Given the description of an element on the screen output the (x, y) to click on. 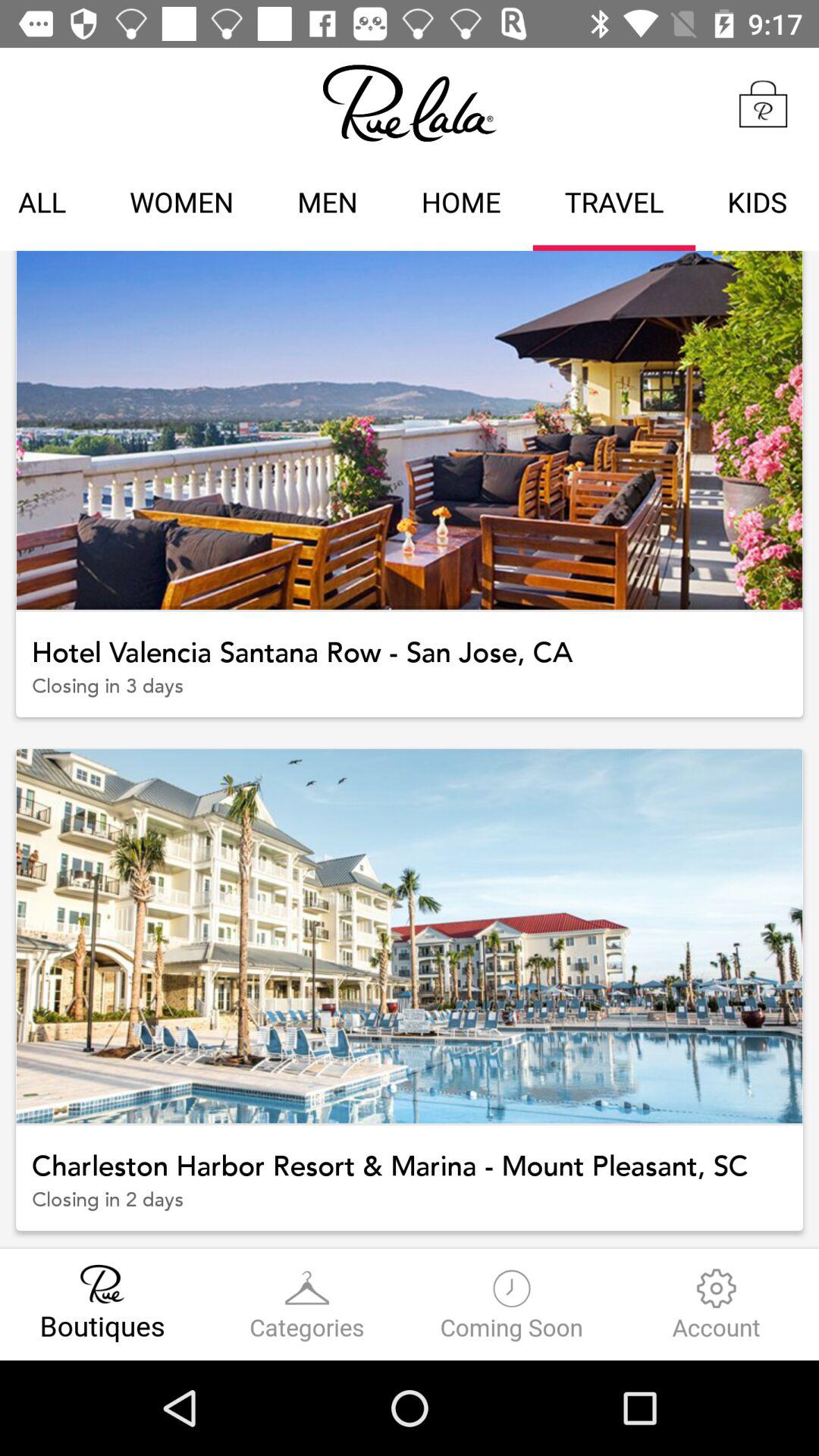
choose the men icon (327, 204)
